Given the description of an element on the screen output the (x, y) to click on. 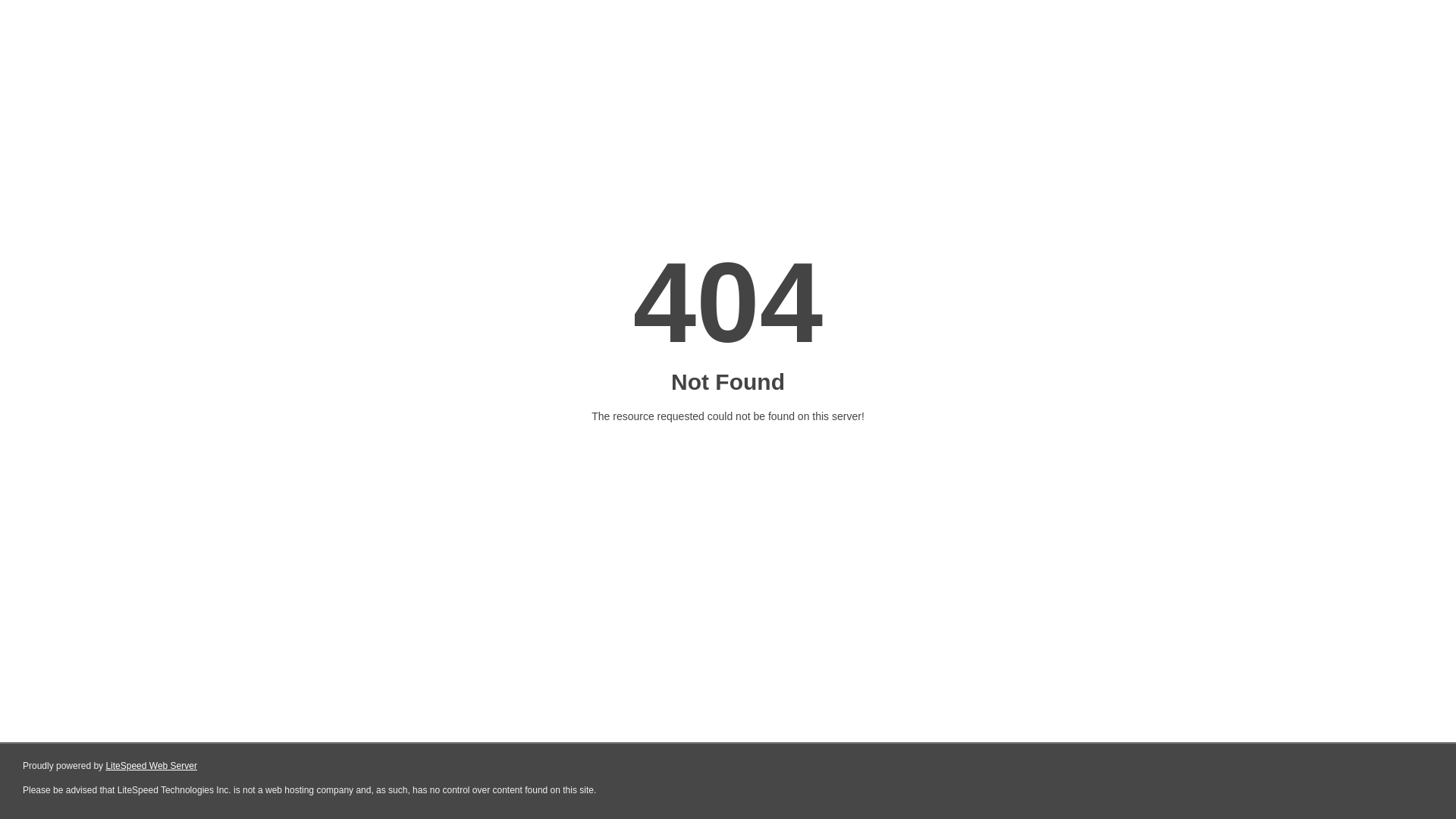
LiteSpeed Web Server Element type: text (151, 765)
